Given the description of an element on the screen output the (x, y) to click on. 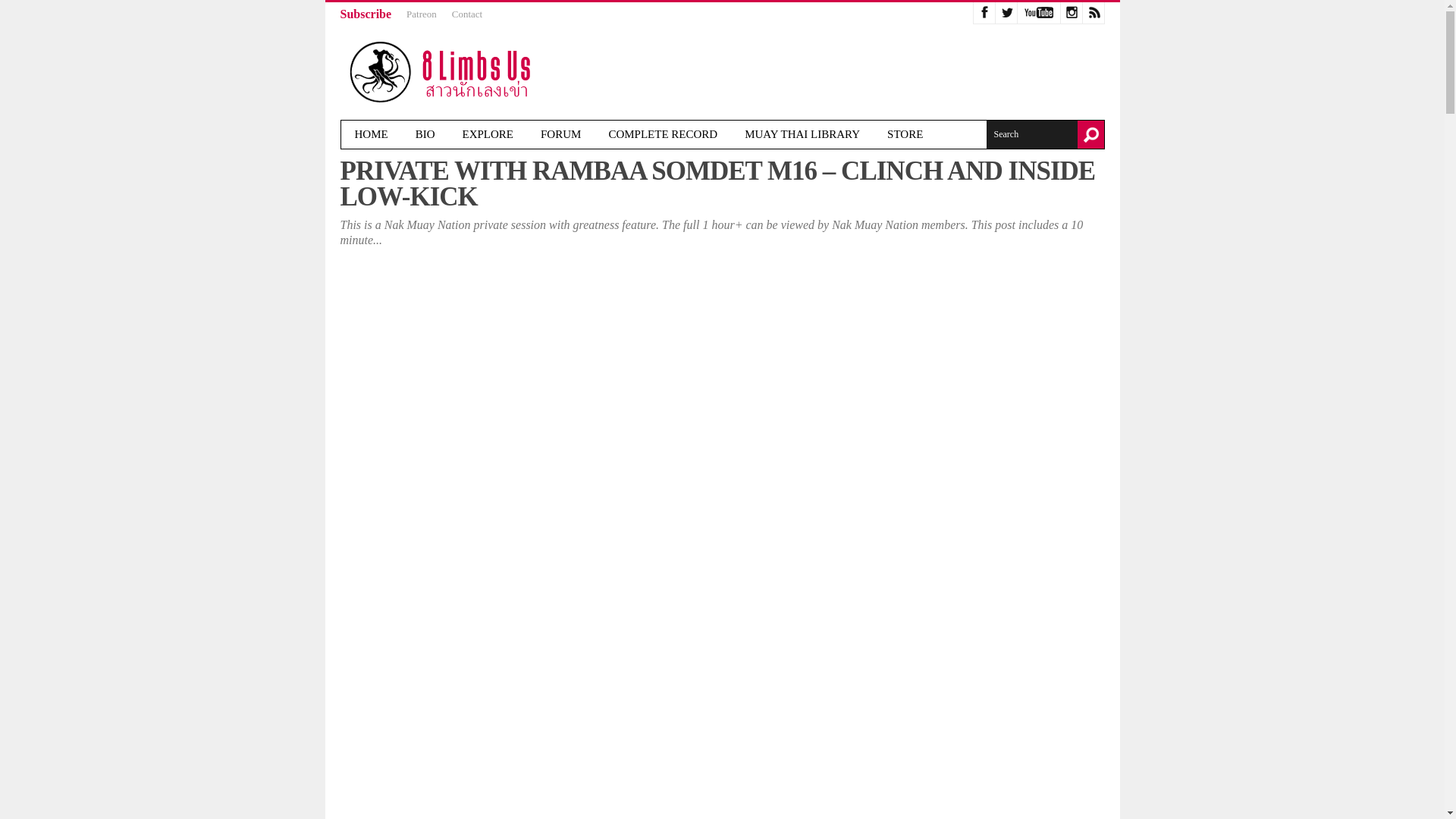
HOME (370, 134)
Contact (466, 13)
FORUM (560, 134)
STORE (904, 134)
MUAY THAI LIBRARY (801, 134)
EXPLORE (487, 134)
Patreon (421, 13)
BIO (424, 134)
Search (1031, 134)
Subscribe (365, 13)
